Given the description of an element on the screen output the (x, y) to click on. 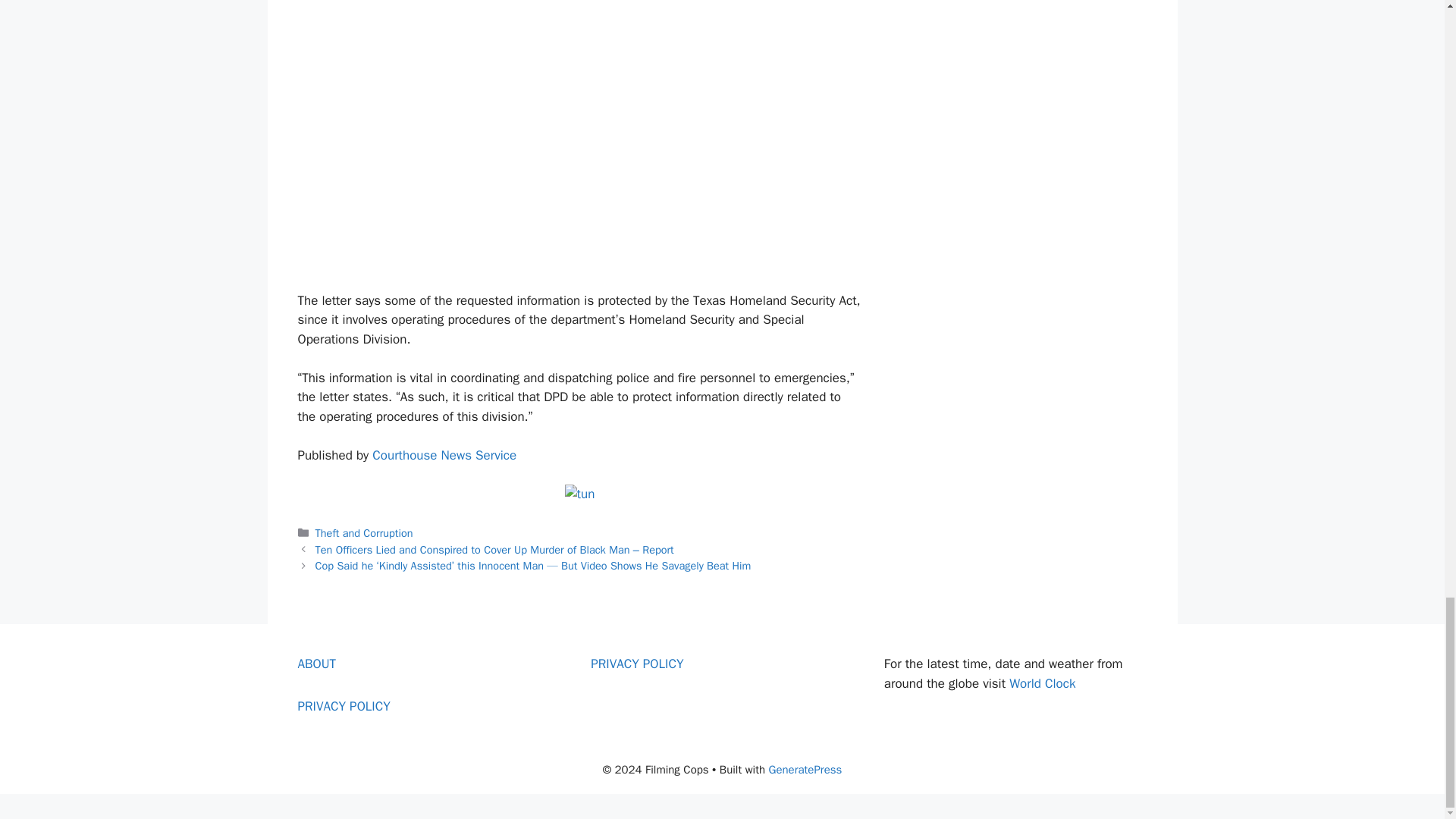
Advertisement (578, 160)
Courthouse News Service (444, 455)
Theft and Corruption (364, 532)
PRIVACY POLICY (343, 706)
ABOUT (316, 663)
PRIVACY POLICY (636, 663)
World Clock (1042, 683)
GeneratePress (805, 769)
